Given the description of an element on the screen output the (x, y) to click on. 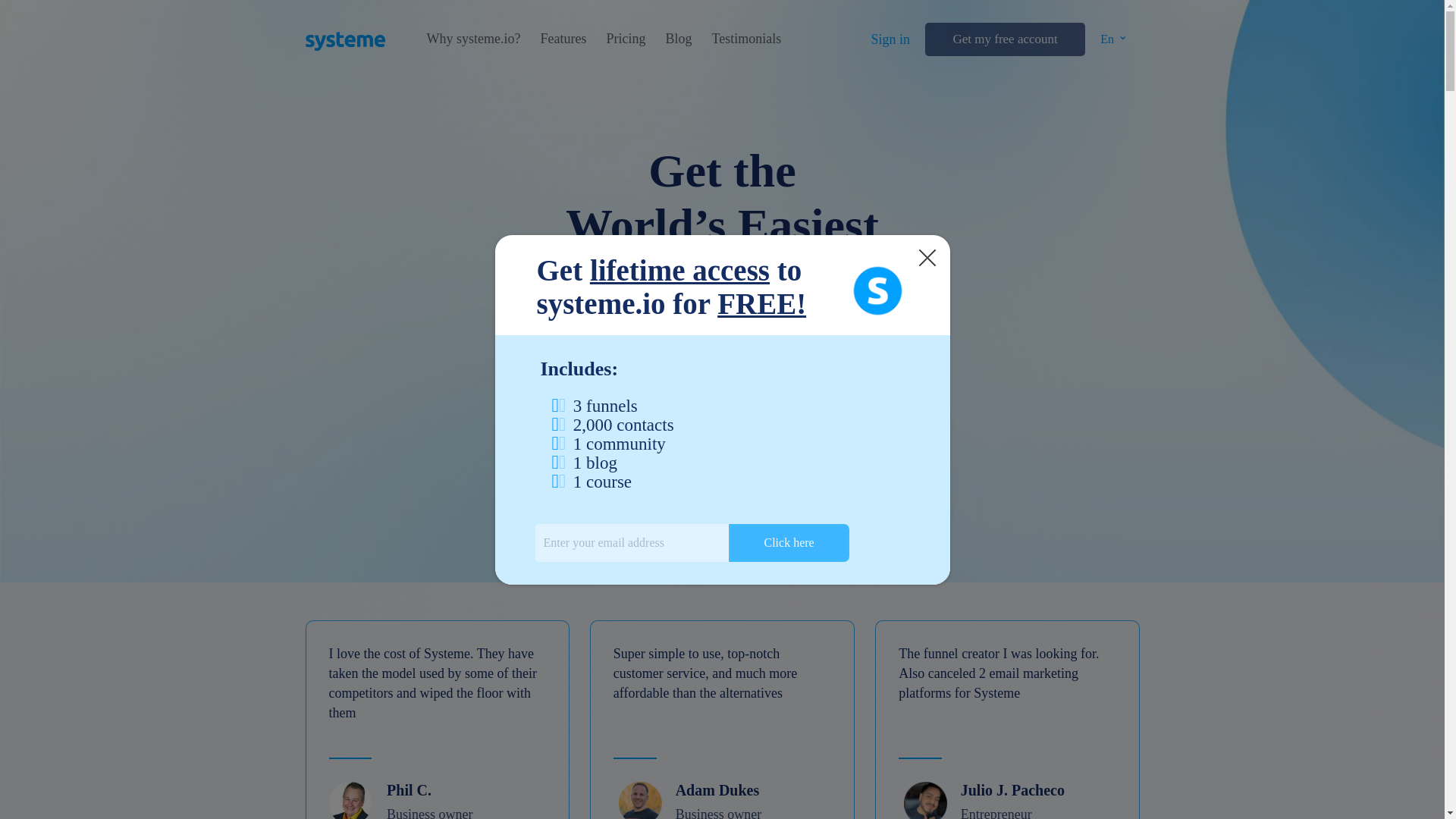
Features (563, 38)
Testimonials (745, 38)
Pricing (625, 38)
Blog (678, 38)
Why systeme.io? (472, 38)
Sign in (890, 39)
Get my free account (1004, 39)
